Given the description of an element on the screen output the (x, y) to click on. 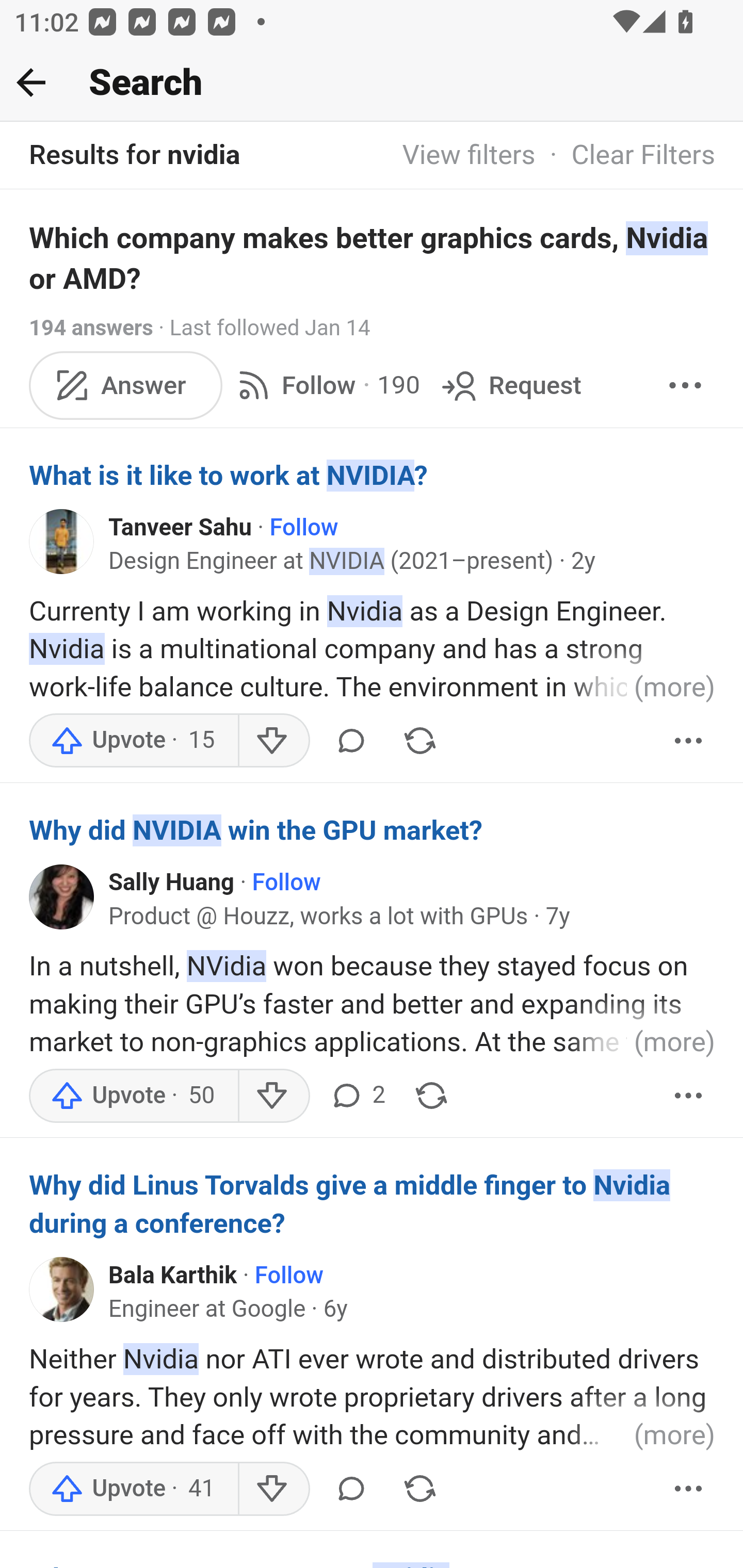
Back Search (371, 82)
Back (30, 82)
View filters (468, 155)
· Clear Filters · Clear Filters (625, 155)
194 answers 194  answers (90, 328)
Answer (125, 385)
Follow · 190 (324, 385)
Request (509, 385)
More (684, 385)
What is it like to work at NVIDIA? (372, 474)
Profile photo for Tanveer Sahu (61, 540)
Tanveer Sahu (180, 527)
Follow (303, 527)
2y 2 y (582, 562)
Upvote (133, 740)
Downvote (273, 740)
Comment (350, 740)
Share (419, 740)
More (688, 740)
Why did NVIDIA win the GPU market? (372, 830)
Profile photo for Sally Huang (61, 896)
Sally Huang (171, 882)
Follow (286, 882)
7y 7 y (557, 916)
Upvote (133, 1094)
Downvote (273, 1094)
2 comments (357, 1094)
Share (430, 1094)
More (688, 1094)
Profile photo for Bala Karthik (61, 1289)
Bala Karthik (173, 1276)
Follow (288, 1276)
6y 6 y (334, 1309)
Upvote (133, 1488)
Downvote (273, 1488)
Comment (350, 1488)
Share (419, 1488)
More (688, 1488)
